Given the description of an element on the screen output the (x, y) to click on. 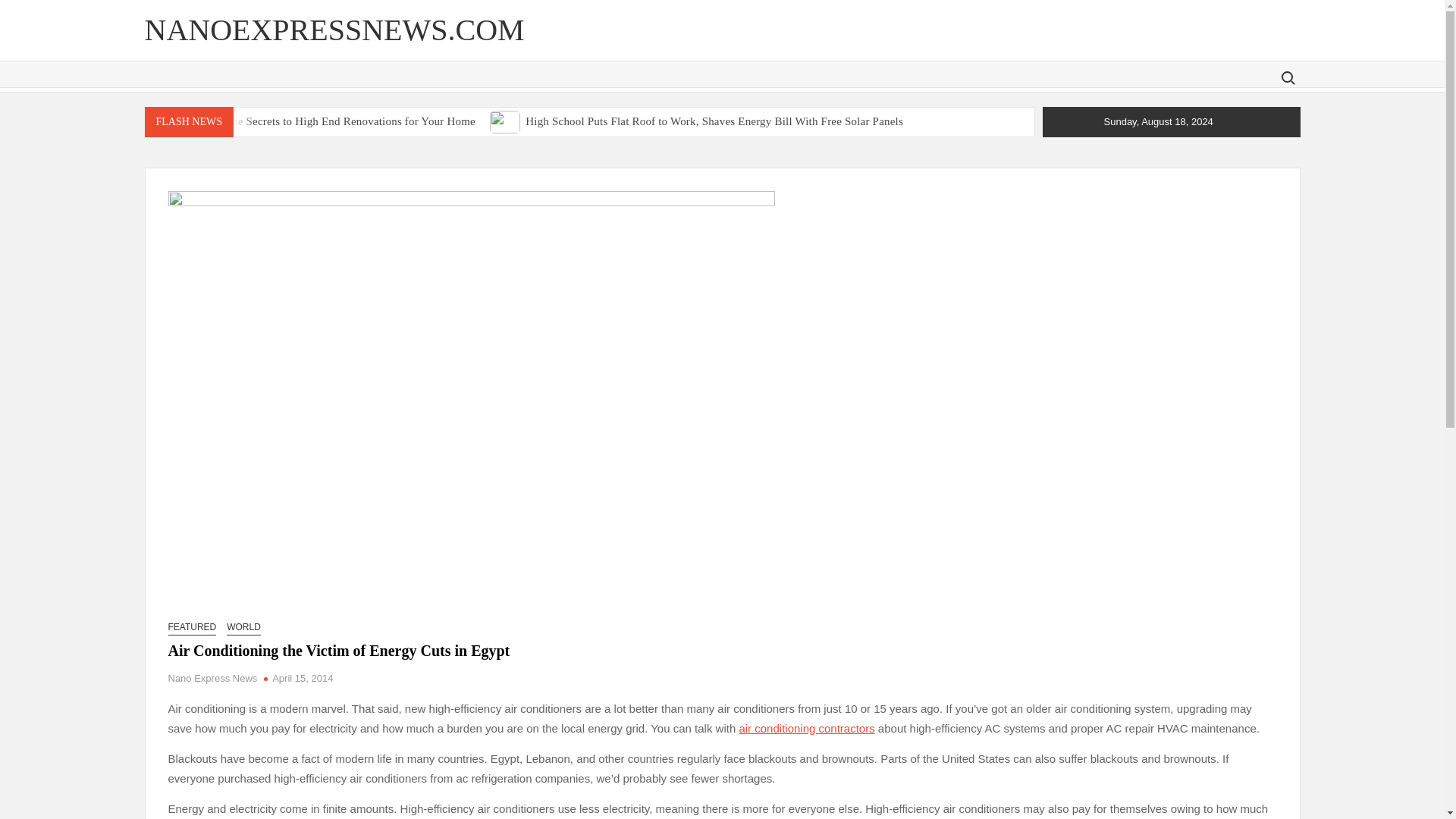
The Ultimate Secrets to High End Renovations for Your Home (161, 120)
The Ultimate Secrets to High End Renovations for Your Home (328, 121)
WORLD (243, 627)
FEATURED (192, 627)
The Ultimate Secrets to High End Renovations for Your Home (328, 121)
air conditioning contractors (806, 727)
Search for: (1287, 77)
April 15, 2014 (302, 677)
